Given the description of an element on the screen output the (x, y) to click on. 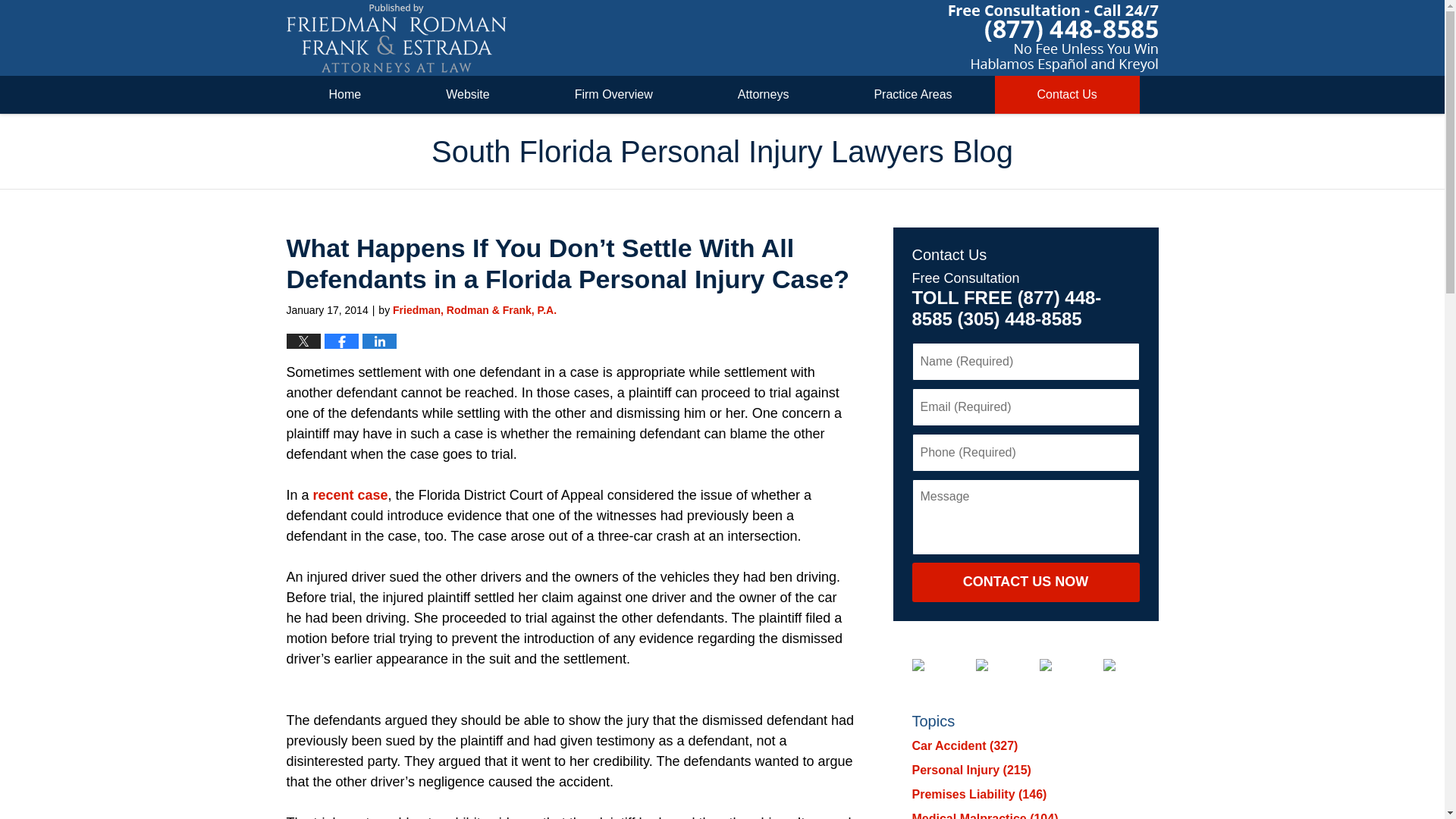
LinkedIn (993, 664)
Website (467, 94)
Feed (1120, 664)
Home (345, 94)
Practice Areas (912, 94)
recent case (350, 494)
Attorneys (763, 94)
Firm Overview (613, 94)
Please enter a valid phone number. (1024, 452)
Facebook (929, 664)
